Given the description of an element on the screen output the (x, y) to click on. 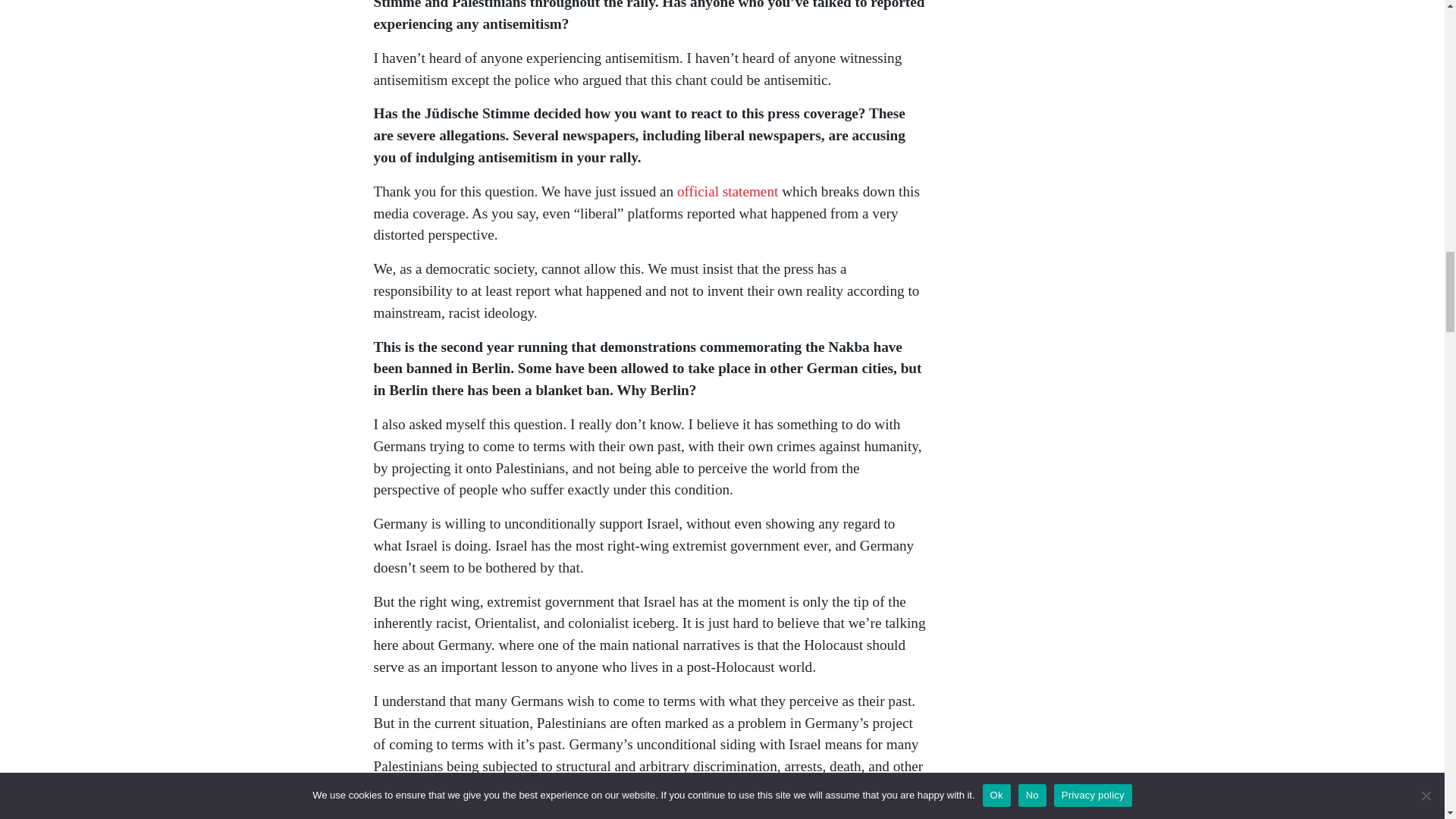
official statement (727, 191)
